Given the description of an element on the screen output the (x, y) to click on. 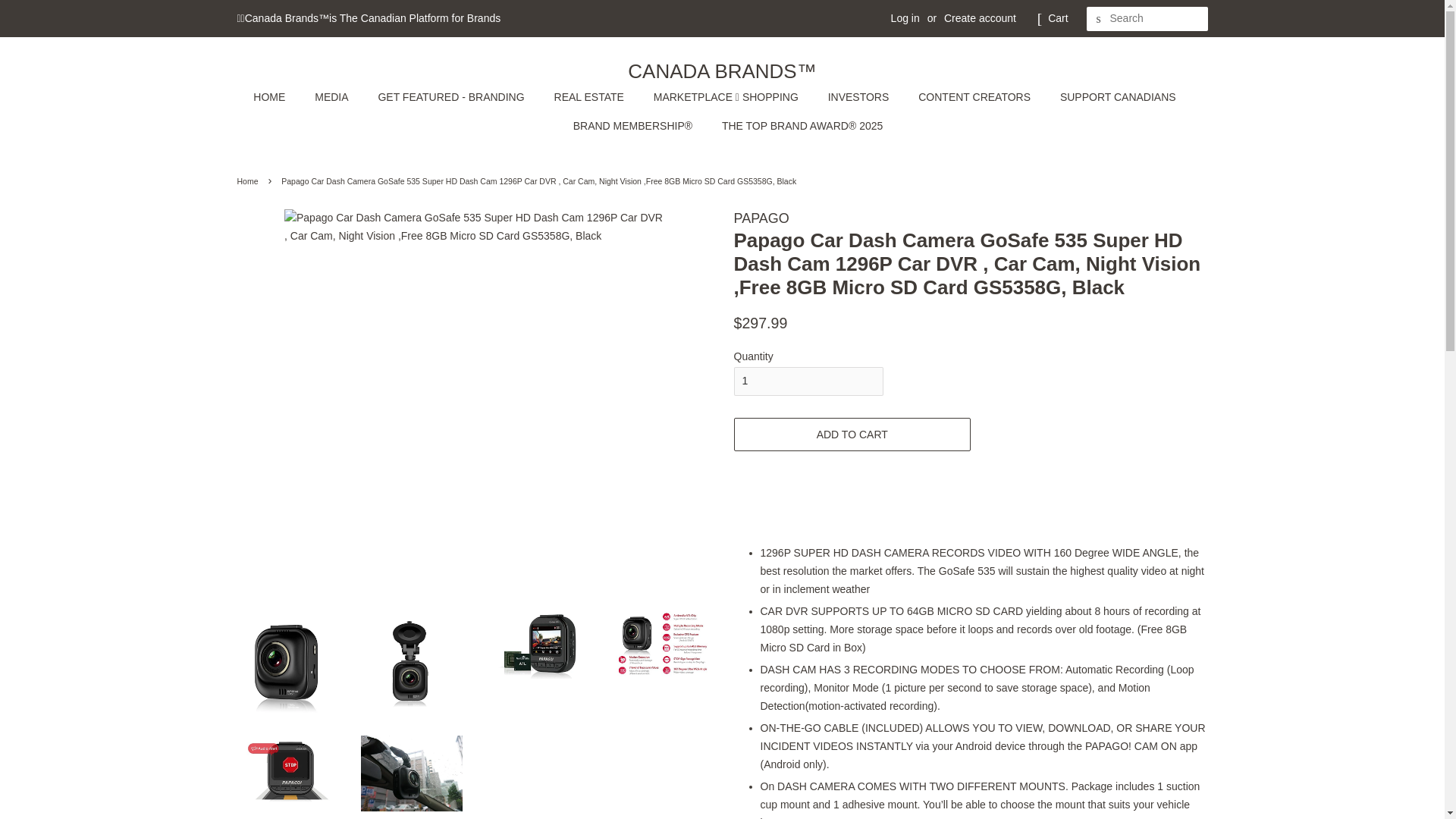
Home (248, 180)
1 (808, 380)
SEARCH (1097, 18)
Log in (905, 18)
MEDIA (332, 97)
SUPPORT CANADIANS (1119, 97)
Create account (979, 18)
GET FEATURED - BRANDING (452, 97)
HOME (276, 97)
REAL ESTATE (591, 97)
